Given the description of an element on the screen output the (x, y) to click on. 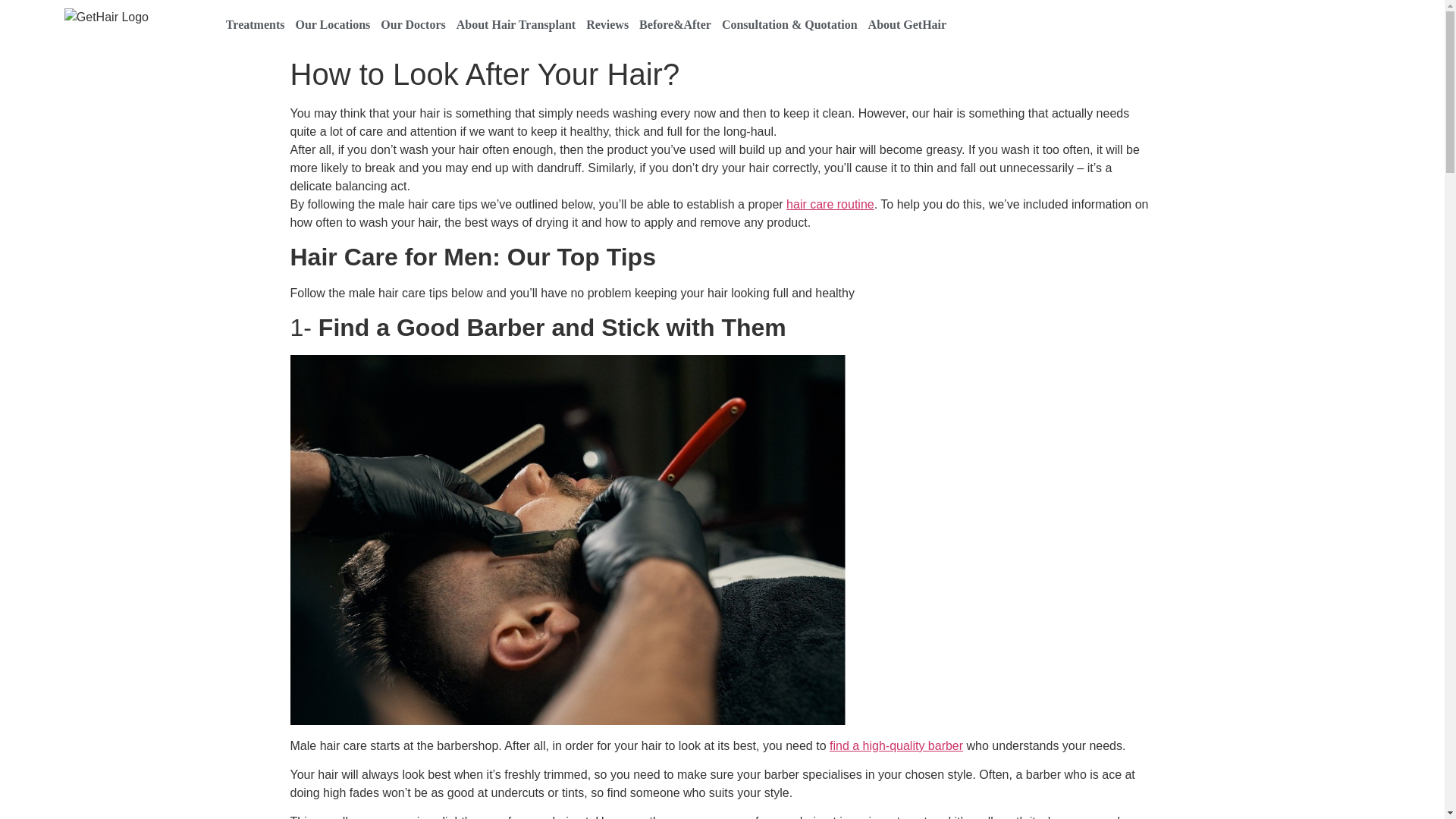
Our Doctors (412, 24)
GetHair The Leading Hair Transplant Clinic in Turkey (106, 17)
About GetHair (907, 24)
About Hair Transplant (515, 24)
Our Locations (332, 24)
Reviews (606, 24)
Treatments (255, 24)
